Given the description of an element on the screen output the (x, y) to click on. 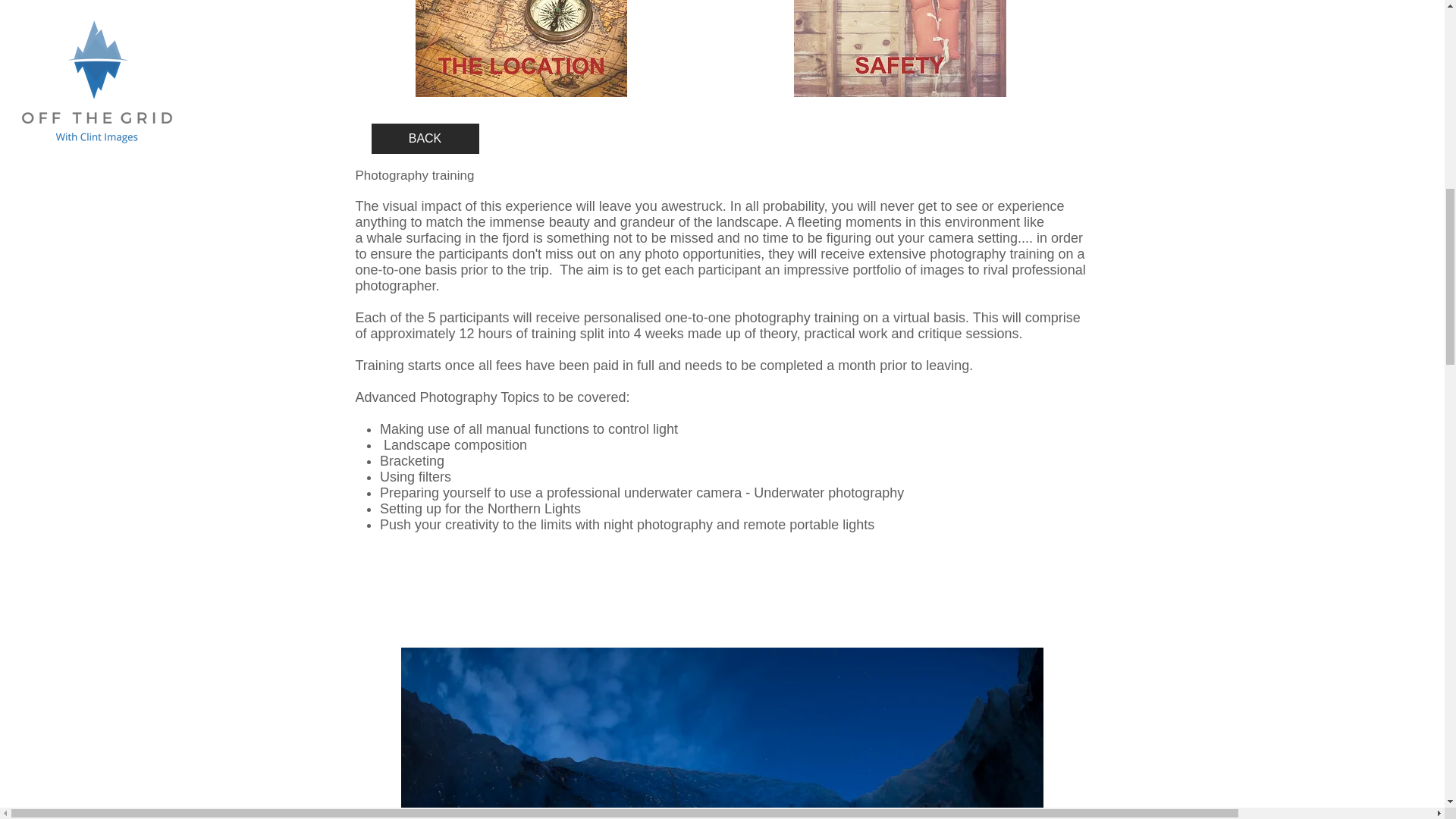
BACK (425, 138)
Click for more info (899, 48)
Click for more info (520, 48)
